Given the description of an element on the screen output the (x, y) to click on. 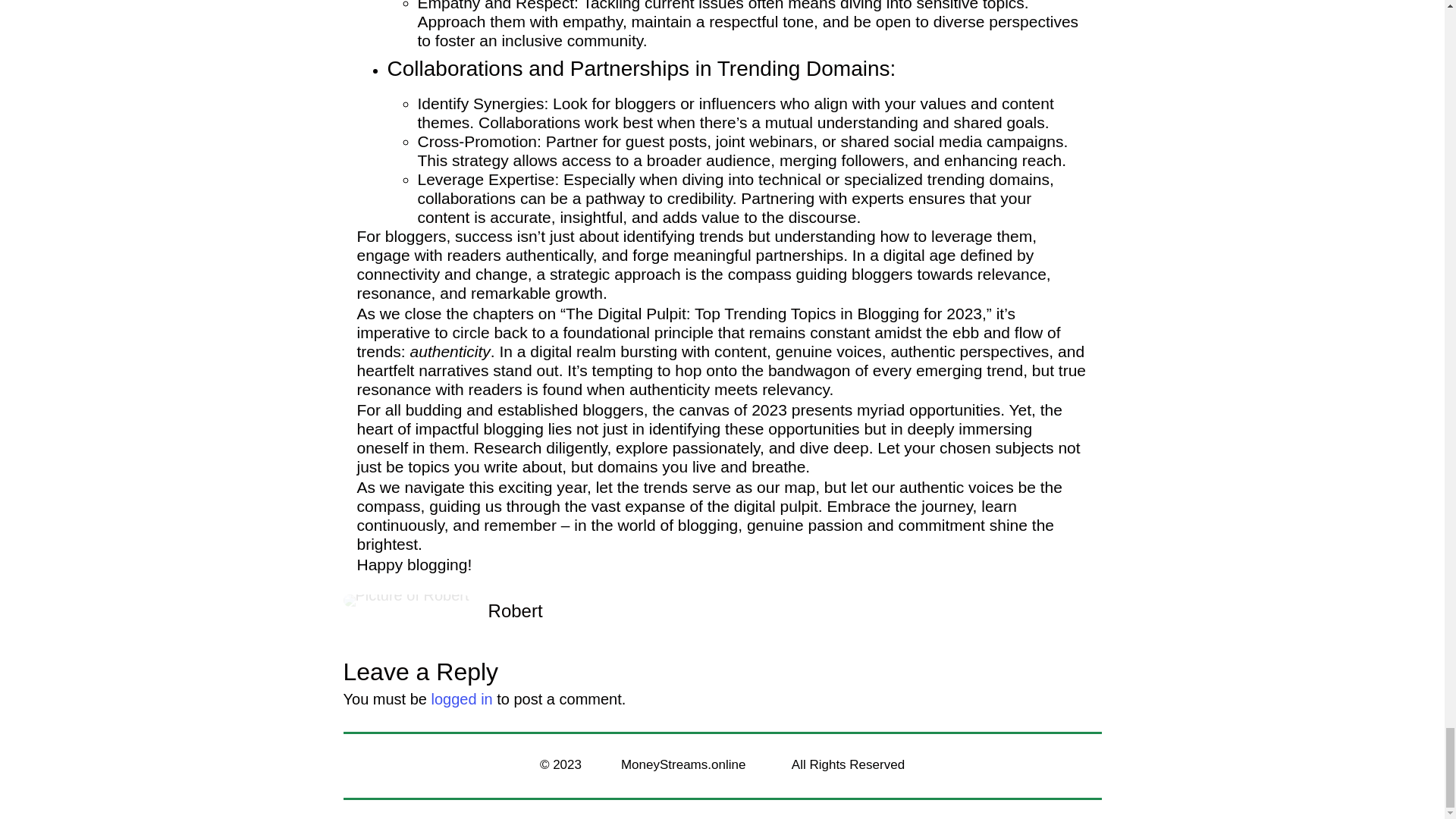
logged in (461, 699)
